Given the description of an element on the screen output the (x, y) to click on. 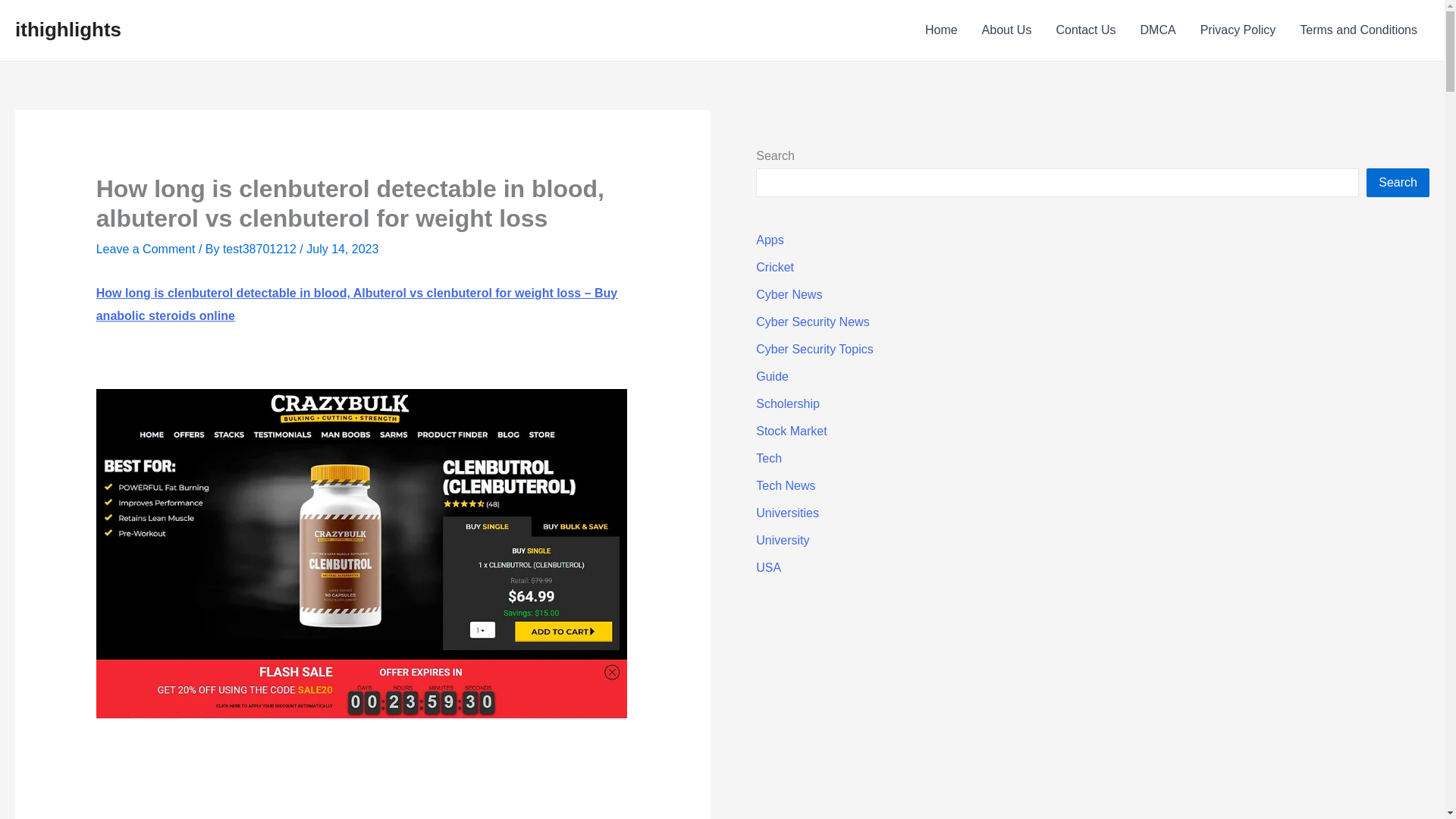
Leave a Comment (145, 248)
Cyber Security News (812, 321)
ithighlights (67, 29)
About Us (1006, 30)
Cyber Security Topics (813, 349)
DMCA (1158, 30)
View all posts by test38701212 (260, 248)
Home (940, 30)
Cyber News (788, 294)
Search (1398, 182)
Stock Market (791, 431)
Terms and Conditions (1358, 30)
Scholership (787, 403)
Cricket (774, 267)
